Given the description of an element on the screen output the (x, y) to click on. 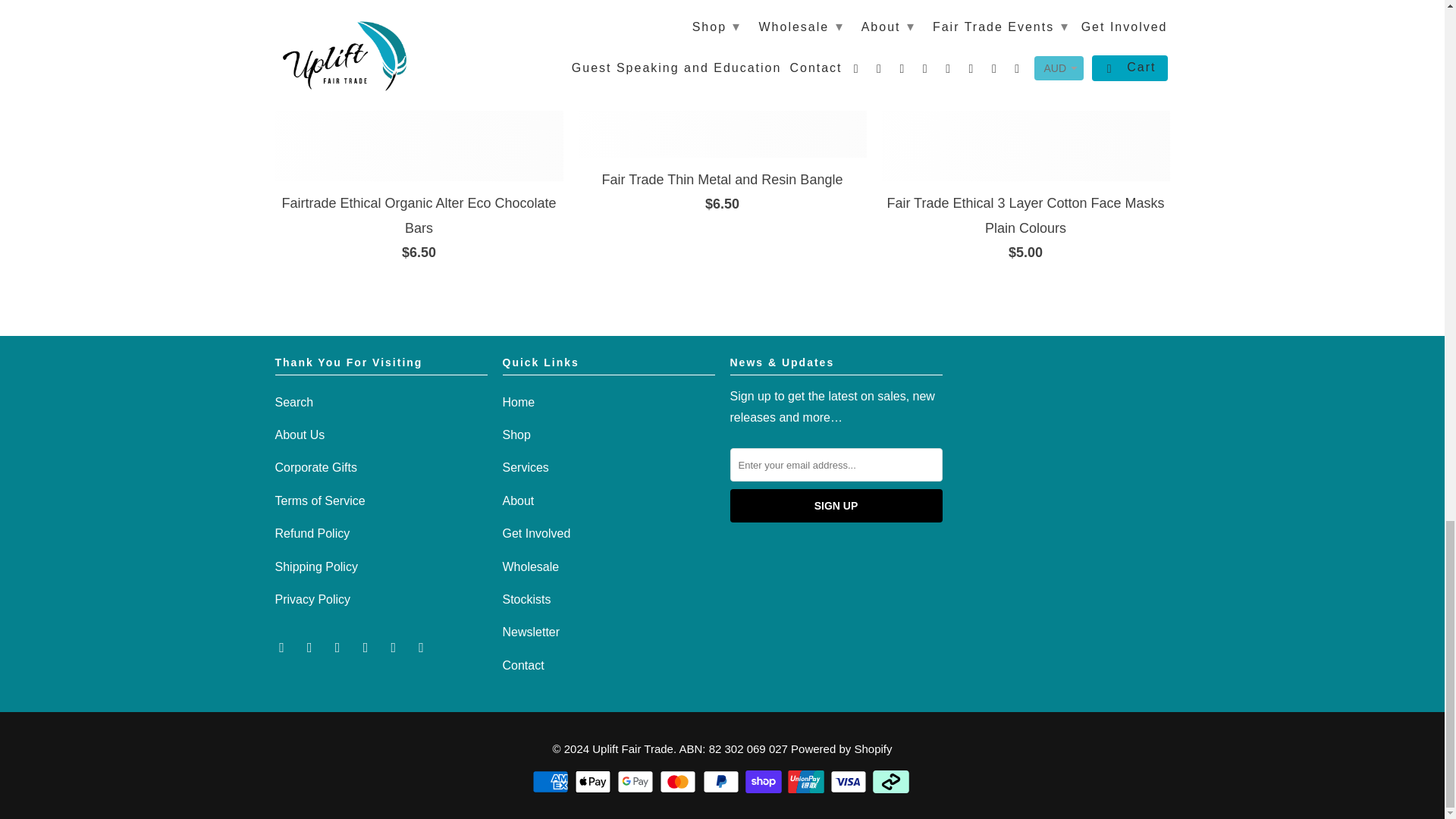
Google Pay (636, 781)
Mastercard (678, 781)
Union Pay (807, 781)
Visa (849, 781)
American Express (552, 781)
Apple Pay (594, 781)
PayPal (721, 781)
Sign Up (835, 505)
Shop Pay (764, 781)
